Given the description of an element on the screen output the (x, y) to click on. 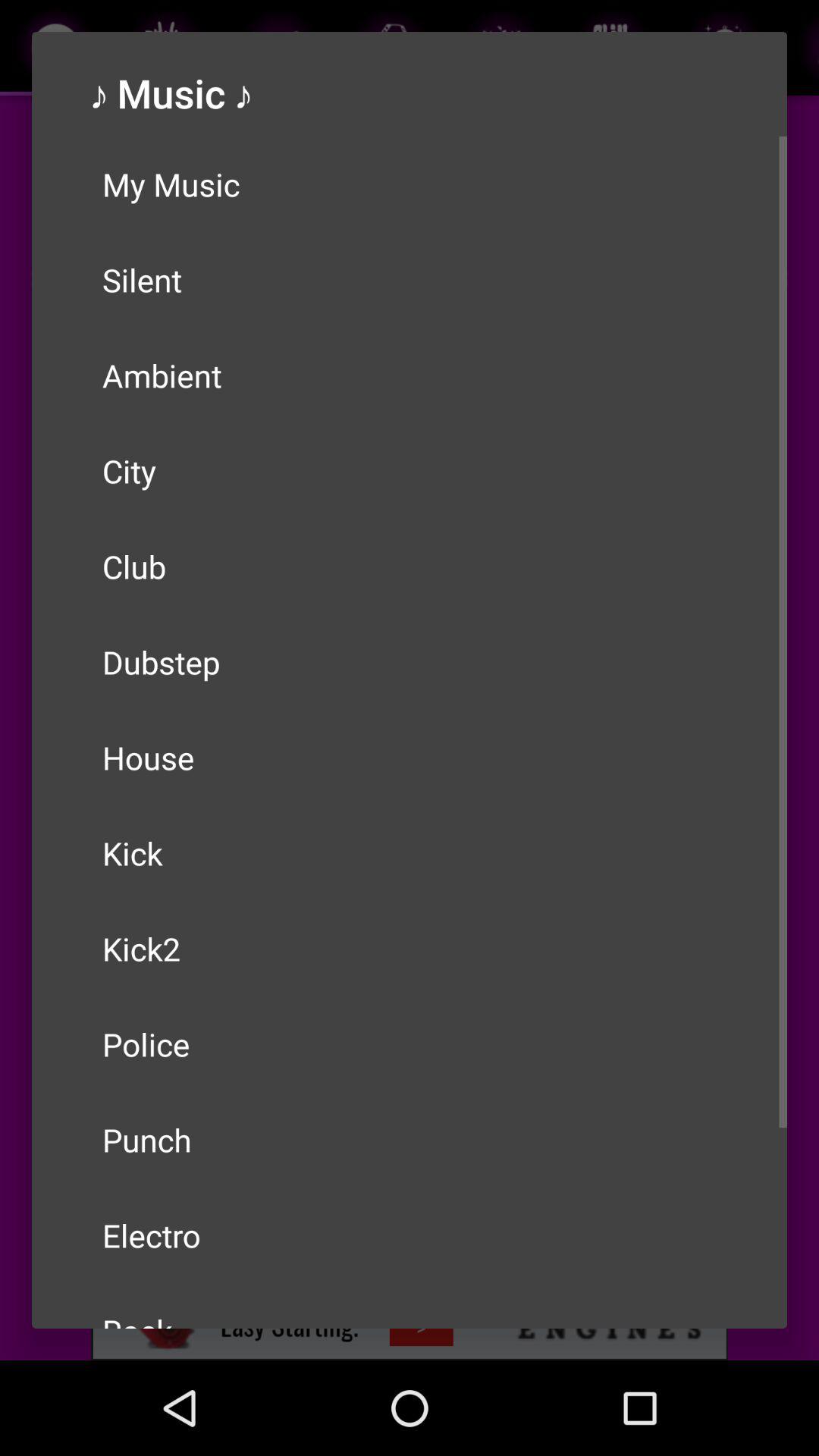
jump to the 		dubstep item (409, 661)
